Given the description of an element on the screen output the (x, y) to click on. 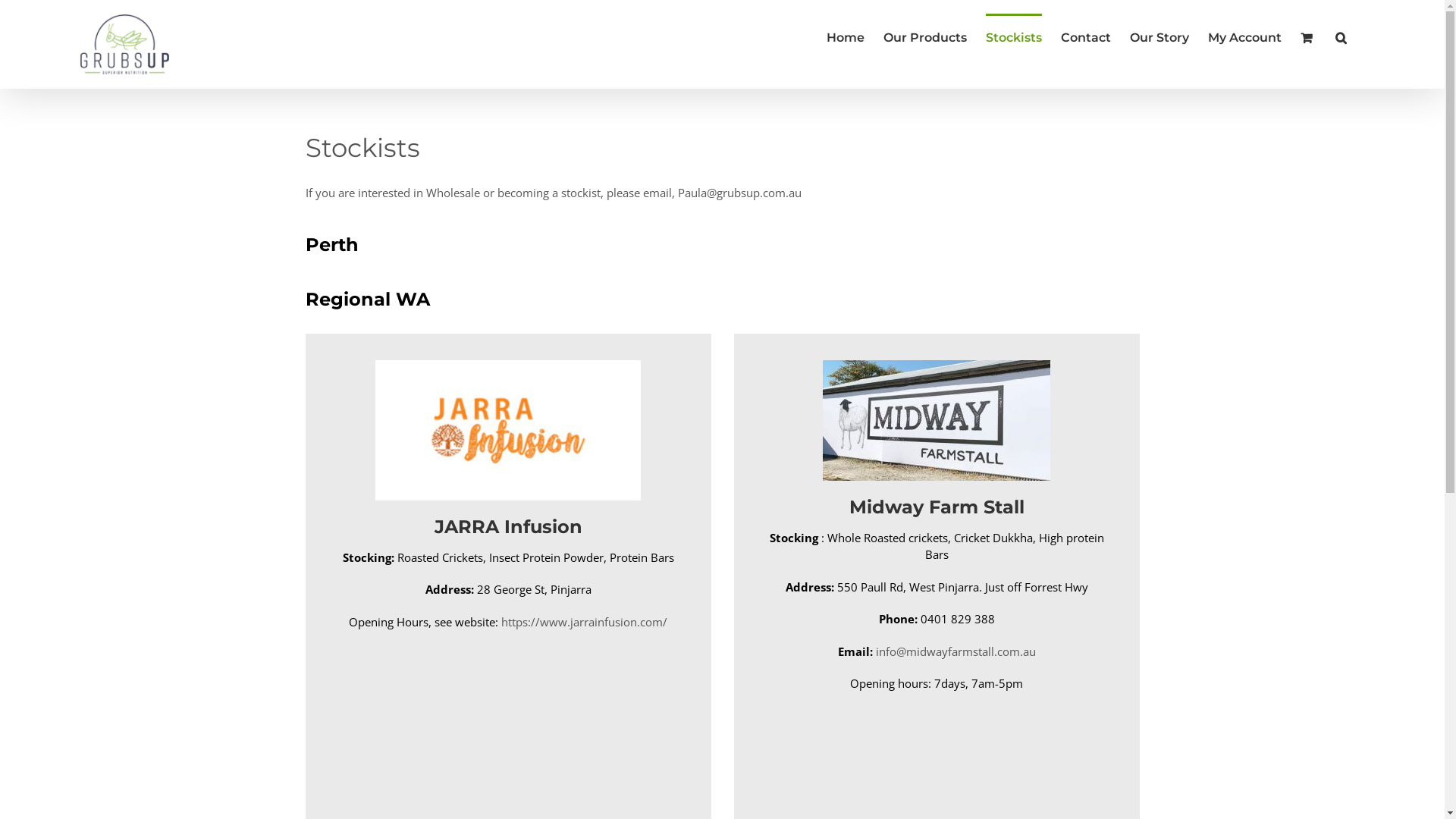
Search Element type: hover (1340, 36)
Paula@grubsup.com.au Element type: text (739, 192)
Home Element type: text (845, 36)
Log In Element type: text (1305, 170)
Contact Element type: text (1085, 36)
Midway Farm Stall Element type: text (935, 438)
https://www.jarrainfusion.com/ Element type: text (584, 621)
Our Story Element type: text (1159, 36)
My Account Element type: text (1244, 36)
info@midwayfarmstall.com.au Element type: text (955, 650)
Stockists Element type: text (1013, 36)
Our Products Element type: text (924, 36)
